Given the description of an element on the screen output the (x, y) to click on. 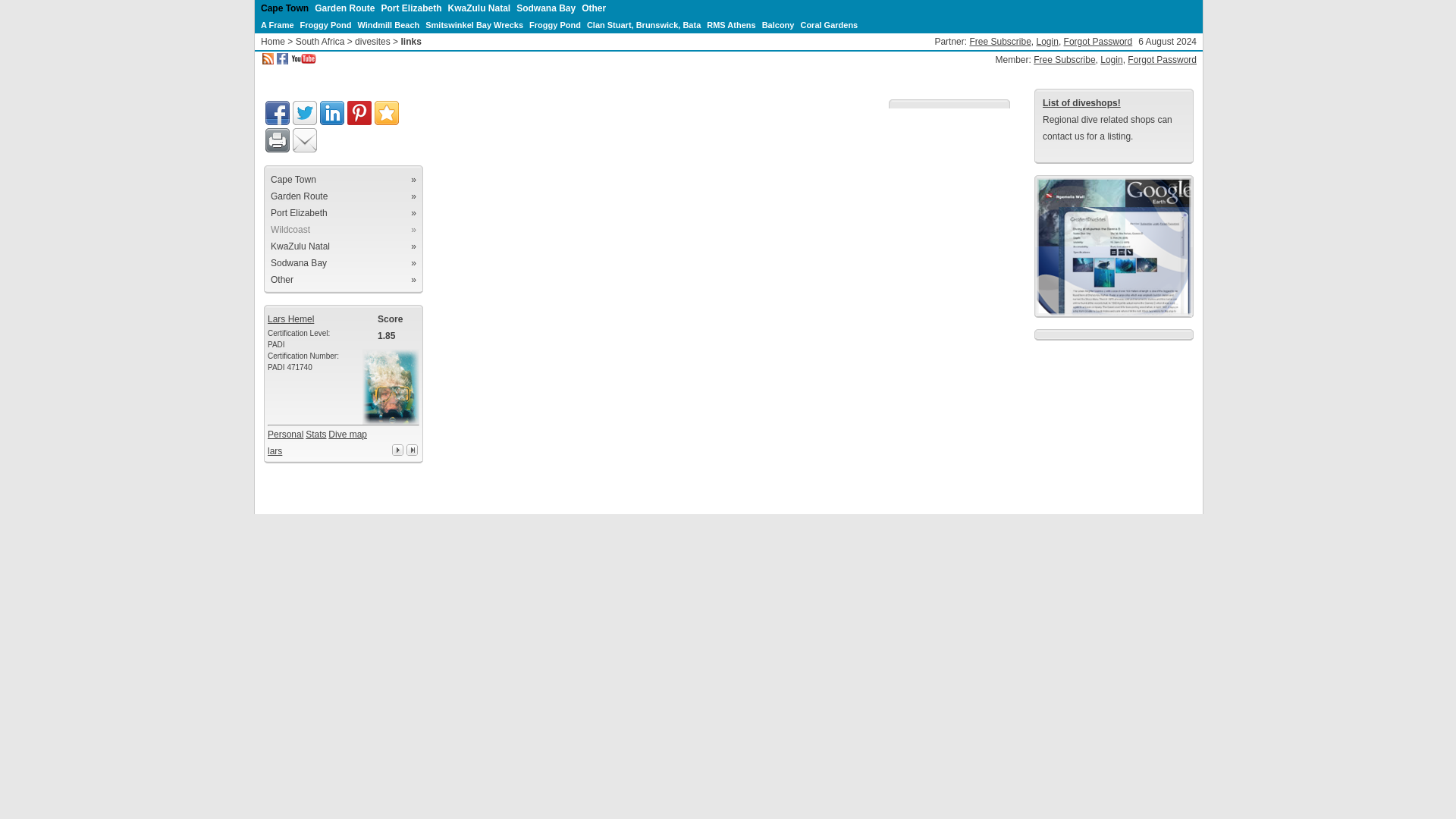
Smitswinkel Bay Wrecks (473, 24)
Sodwana Bay (545, 8)
RMS Athens (730, 24)
KwaZulu Natal (478, 8)
Cape Town (284, 8)
Garden Route (344, 8)
Other (592, 8)
Clan Stuart, Brunswick, Bata (643, 24)
Port Elizabeth (410, 8)
Froggy Pond (554, 24)
Coral Gardens (828, 24)
A Frame (277, 24)
Froggy Pond (325, 24)
Balcony (777, 24)
Windmill Beach (387, 24)
